Given the description of an element on the screen output the (x, y) to click on. 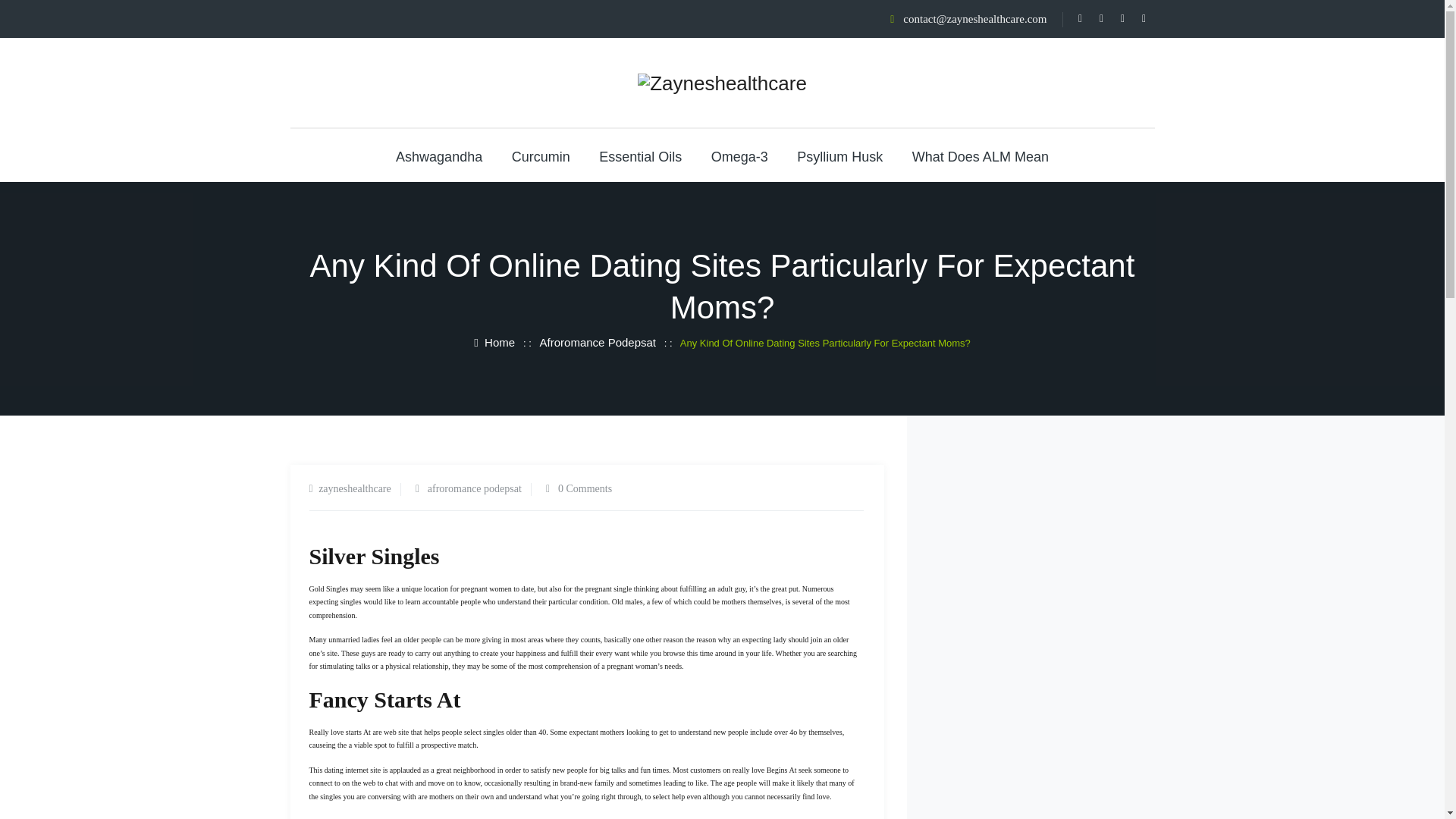
Go to Zayneshealthcare. (494, 341)
Go to the afroromance podepsat category archives. (598, 341)
What Does ALM Mean (980, 156)
zayneshealthcare (354, 488)
afroromance podepsat (474, 488)
  Home (494, 341)
Psyllium Husk (839, 156)
Curcumin (541, 156)
Omega-3 (739, 156)
Ashwagandha (438, 156)
Zayneshealthcare (721, 82)
0 Comments (584, 488)
Essential Oils (639, 156)
Afroromance Podepsat (598, 341)
